Given the description of an element on the screen output the (x, y) to click on. 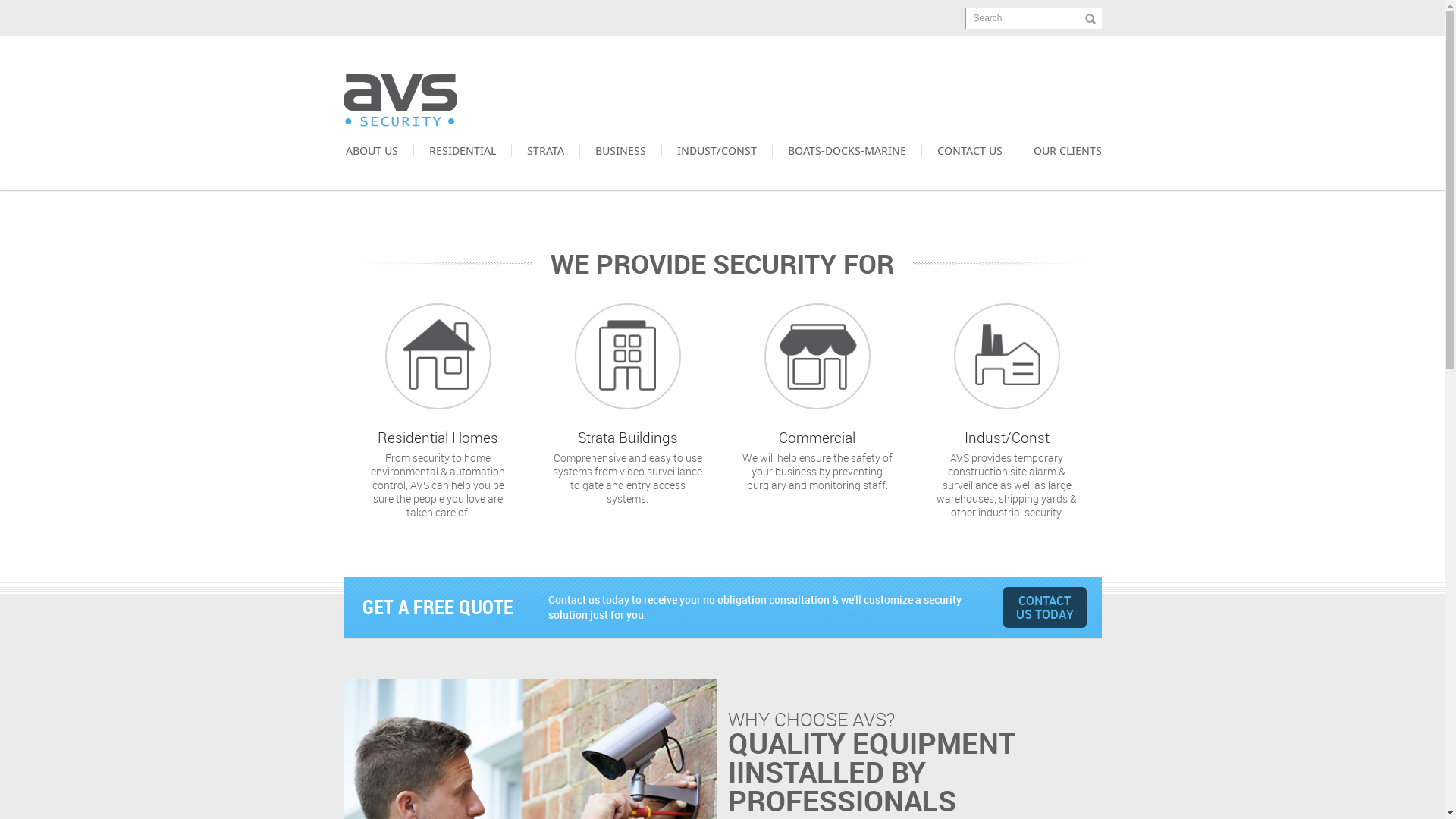
CONTACT US Element type: text (968, 150)
STRATA Element type: text (545, 150)
INDUST/CONST Element type: text (716, 150)
BOATS-DOCKS-MARINE Element type: text (846, 150)
OUR CLIENTS Element type: text (1059, 150)
BUSINESS Element type: text (620, 150)
CONTACT US TODAY Element type: text (1043, 606)
RESIDENTIAL Element type: text (461, 150)
ABOUT US Element type: text (379, 150)
